Given the description of an element on the screen output the (x, y) to click on. 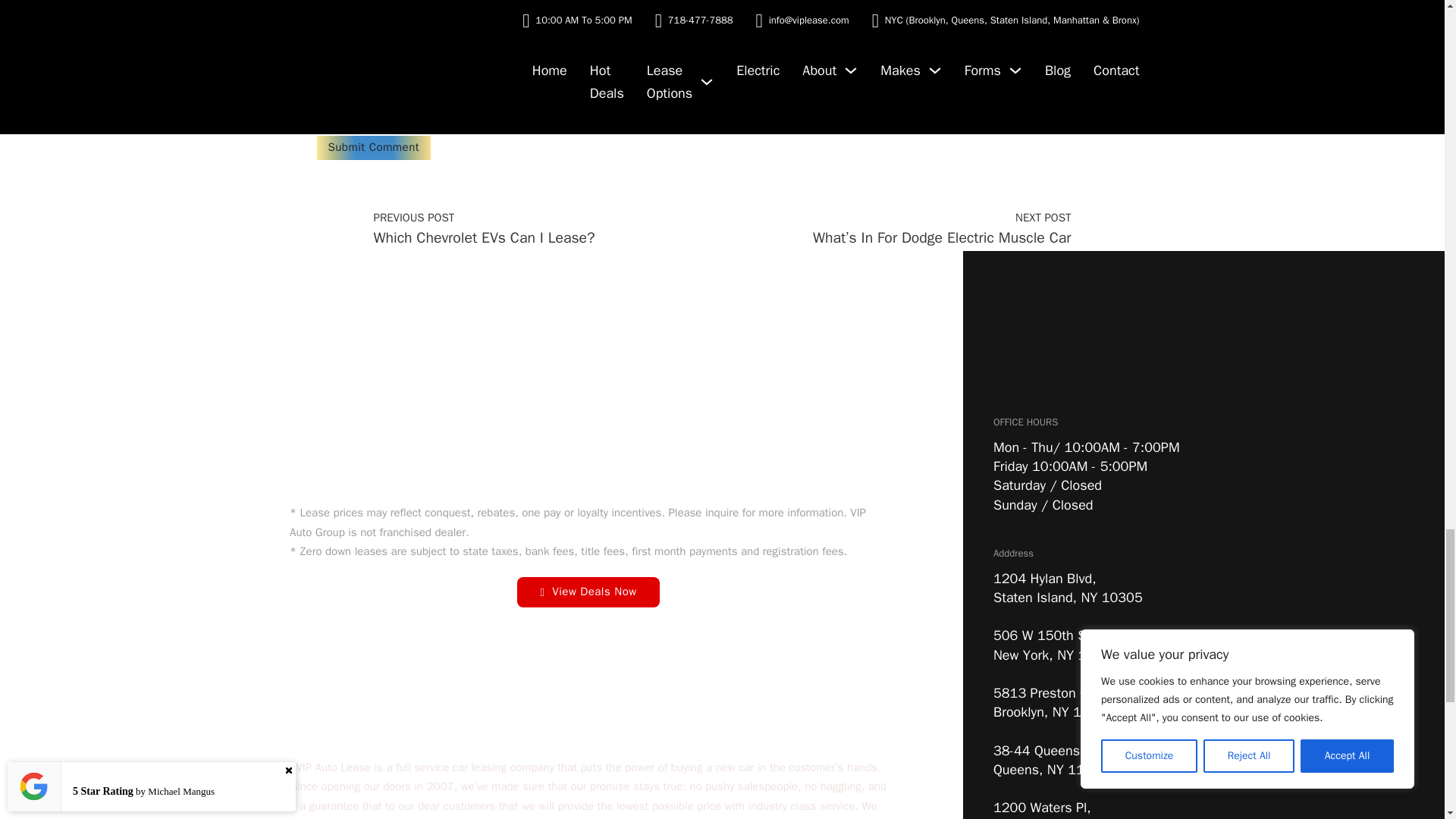
Submit Comment (373, 147)
